Given the description of an element on the screen output the (x, y) to click on. 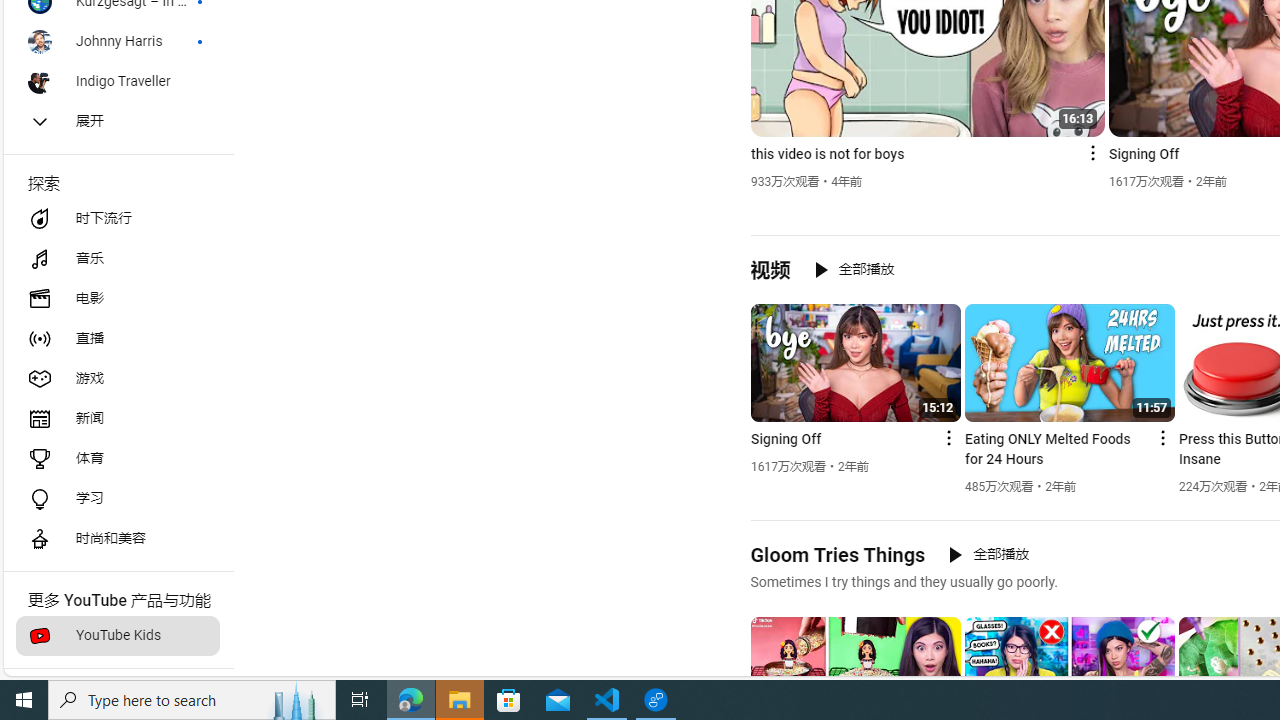
Gloom Tries Things (837, 554)
